Given the description of an element on the screen output the (x, y) to click on. 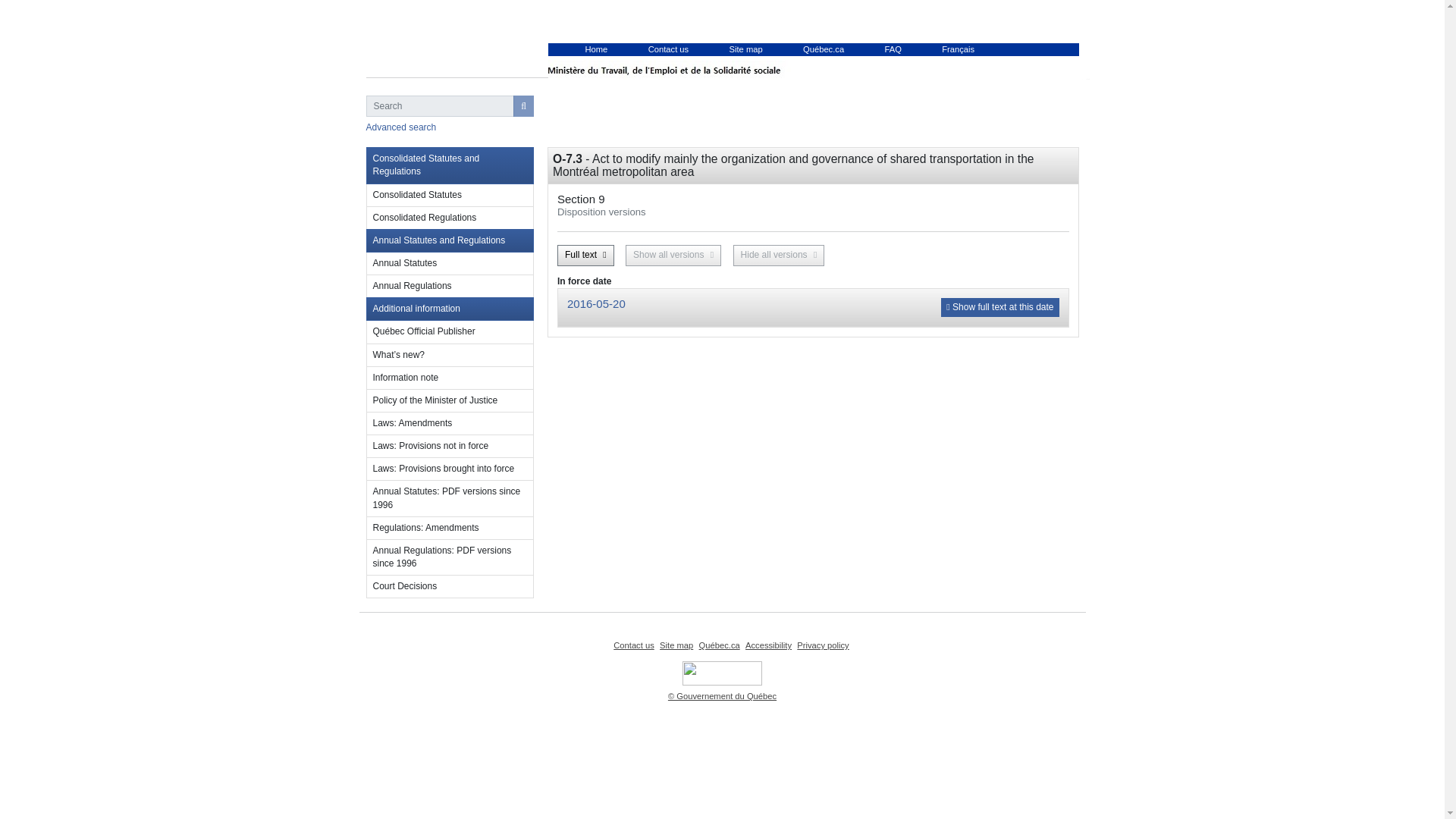
Home (596, 49)
Policy of the Minister of Justice (449, 400)
Site map (676, 645)
Contact us (633, 645)
Information note (449, 377)
Advanced search (400, 127)
Consolidated Statutes (449, 195)
Laws: Provisions not in force (449, 445)
Consolidated Regulations (449, 218)
Annual Regulations (449, 286)
